Given the description of an element on the screen output the (x, y) to click on. 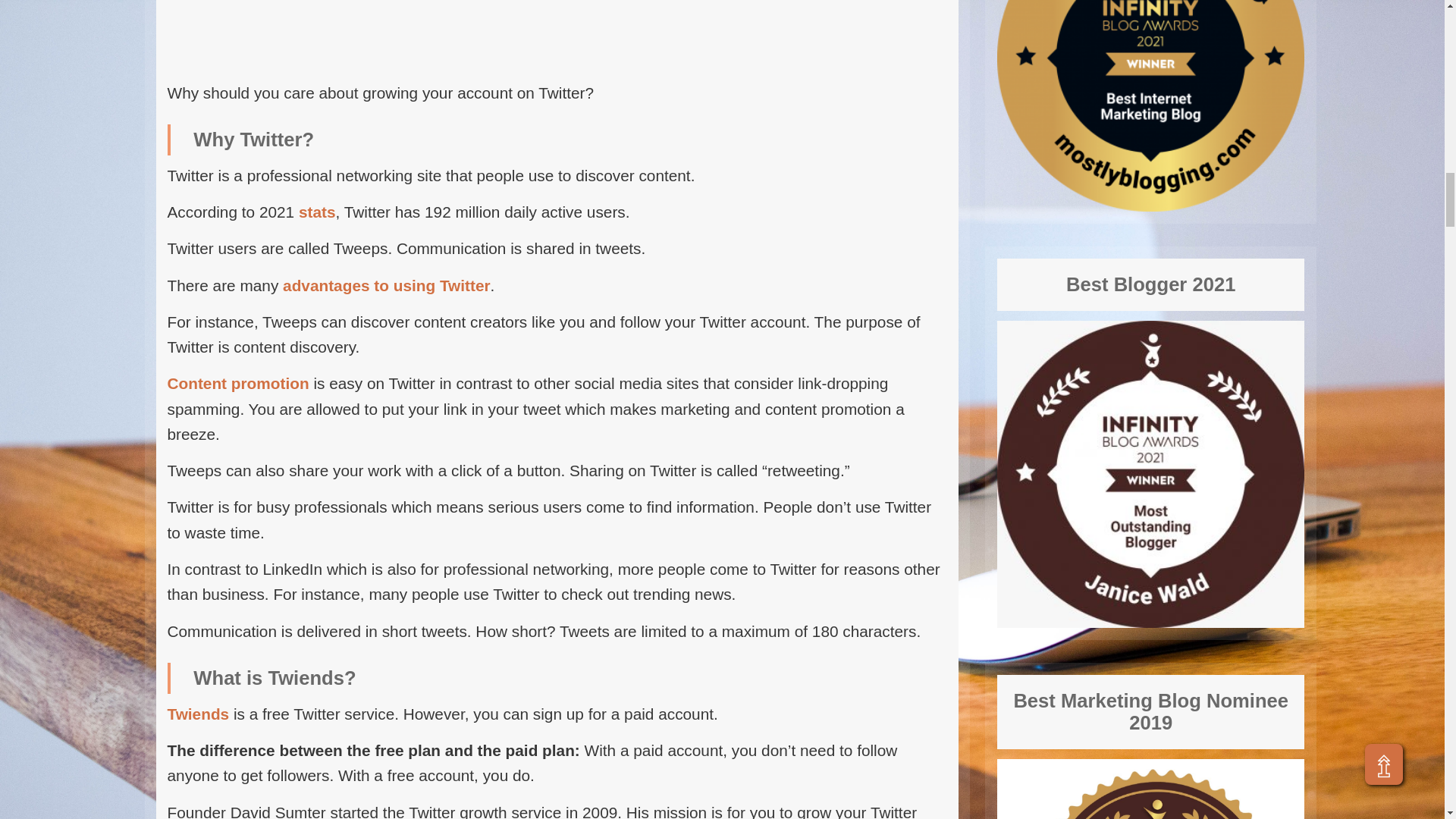
YouTube video player (557, 29)
Best Marketing Blog Nominee (1150, 789)
